Given the description of an element on the screen output the (x, y) to click on. 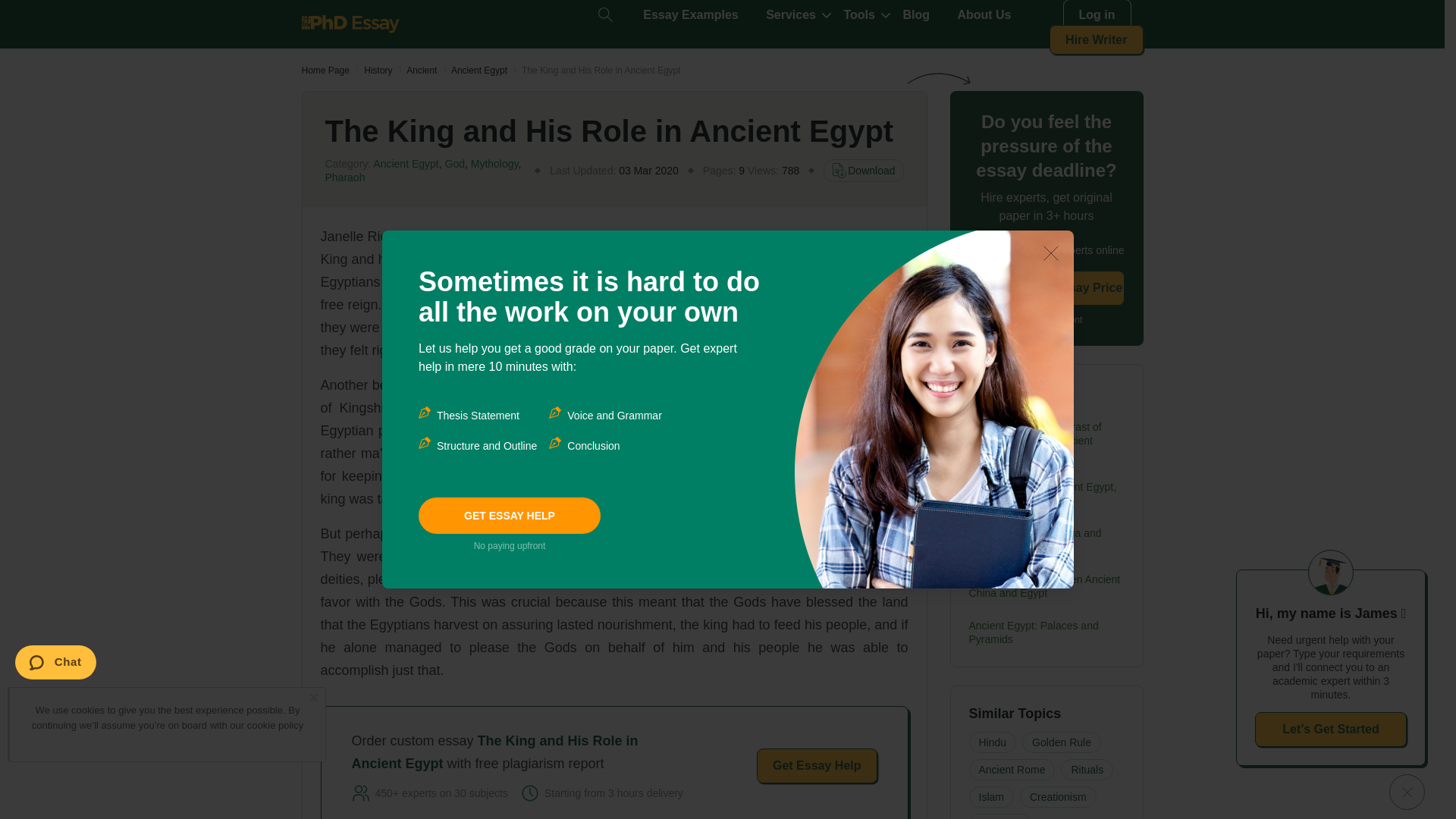
Hire Writer (1095, 39)
About Us (983, 15)
Download (863, 169)
Blog (916, 15)
GET ESSAY HELP (509, 515)
Services (790, 15)
Home Page (325, 70)
Ancient (421, 70)
Log in (1096, 15)
Essay Examples (690, 15)
History (377, 70)
Ancient Egypt (478, 70)
Get Essay Help (817, 765)
Tools (859, 15)
